Given the description of an element on the screen output the (x, y) to click on. 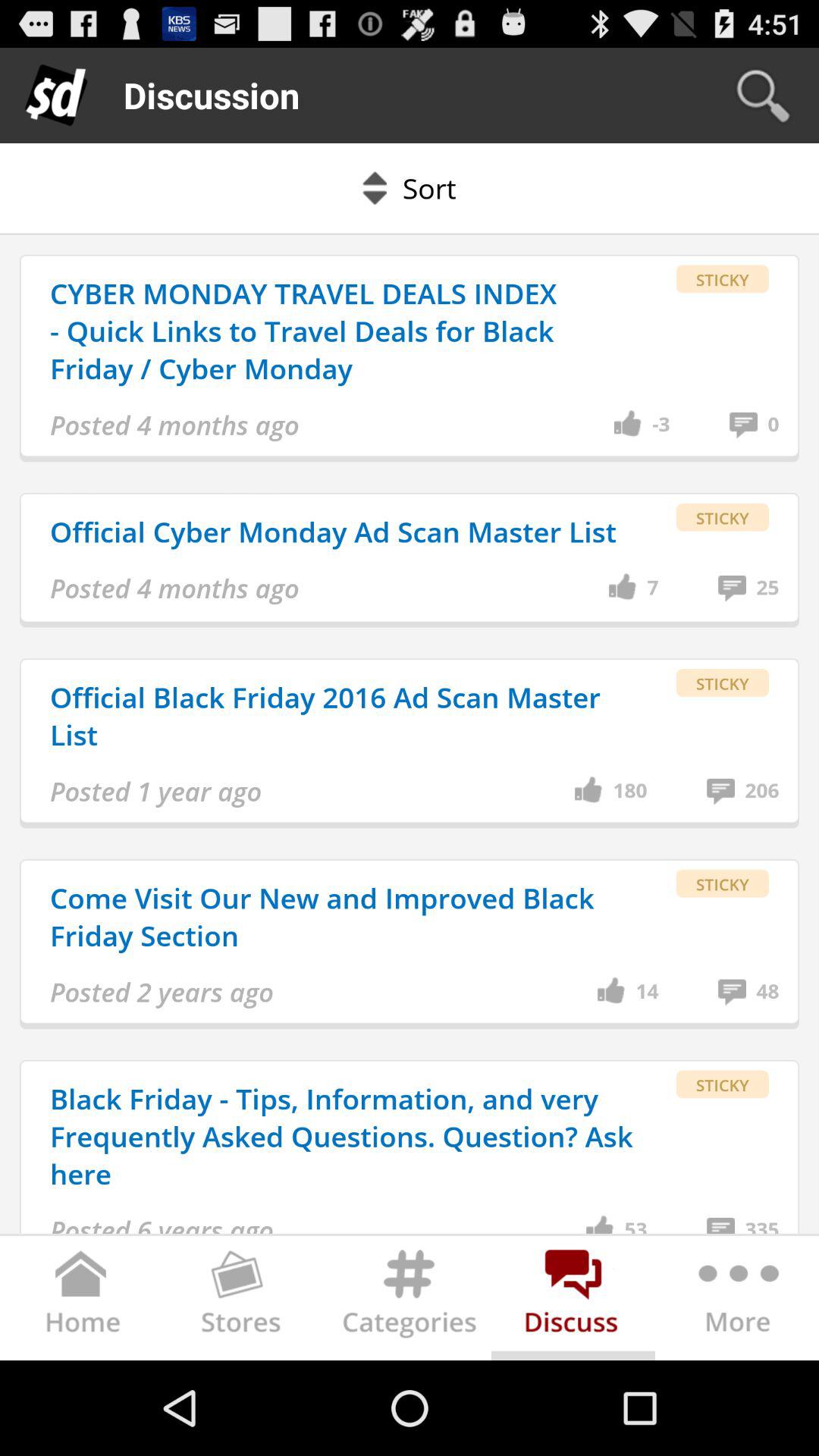
scroll until the posted 1 year app (155, 791)
